Given the description of an element on the screen output the (x, y) to click on. 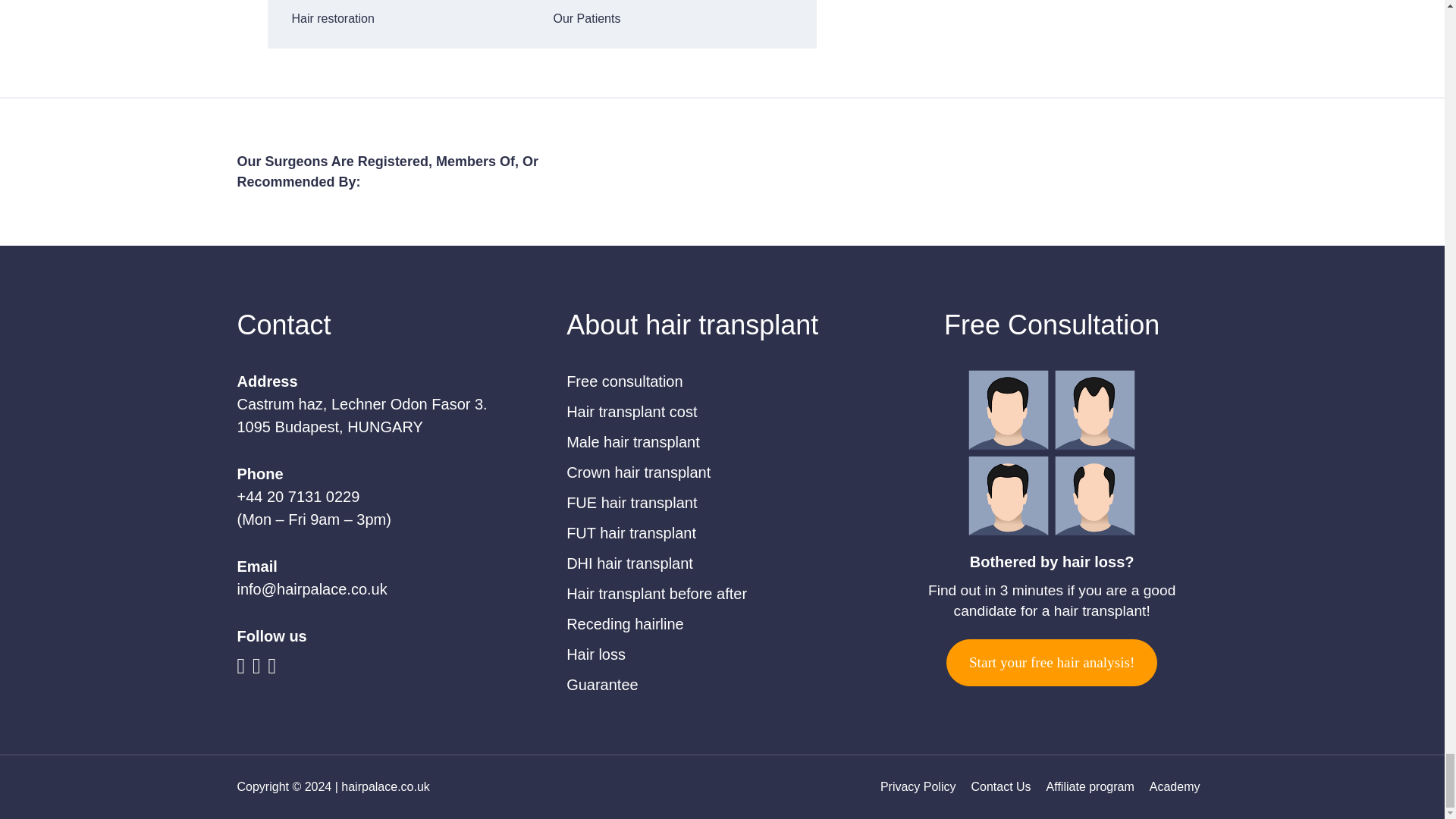
Instagram (275, 668)
Youtube (259, 668)
Facebook (243, 668)
